Given the description of an element on the screen output the (x, y) to click on. 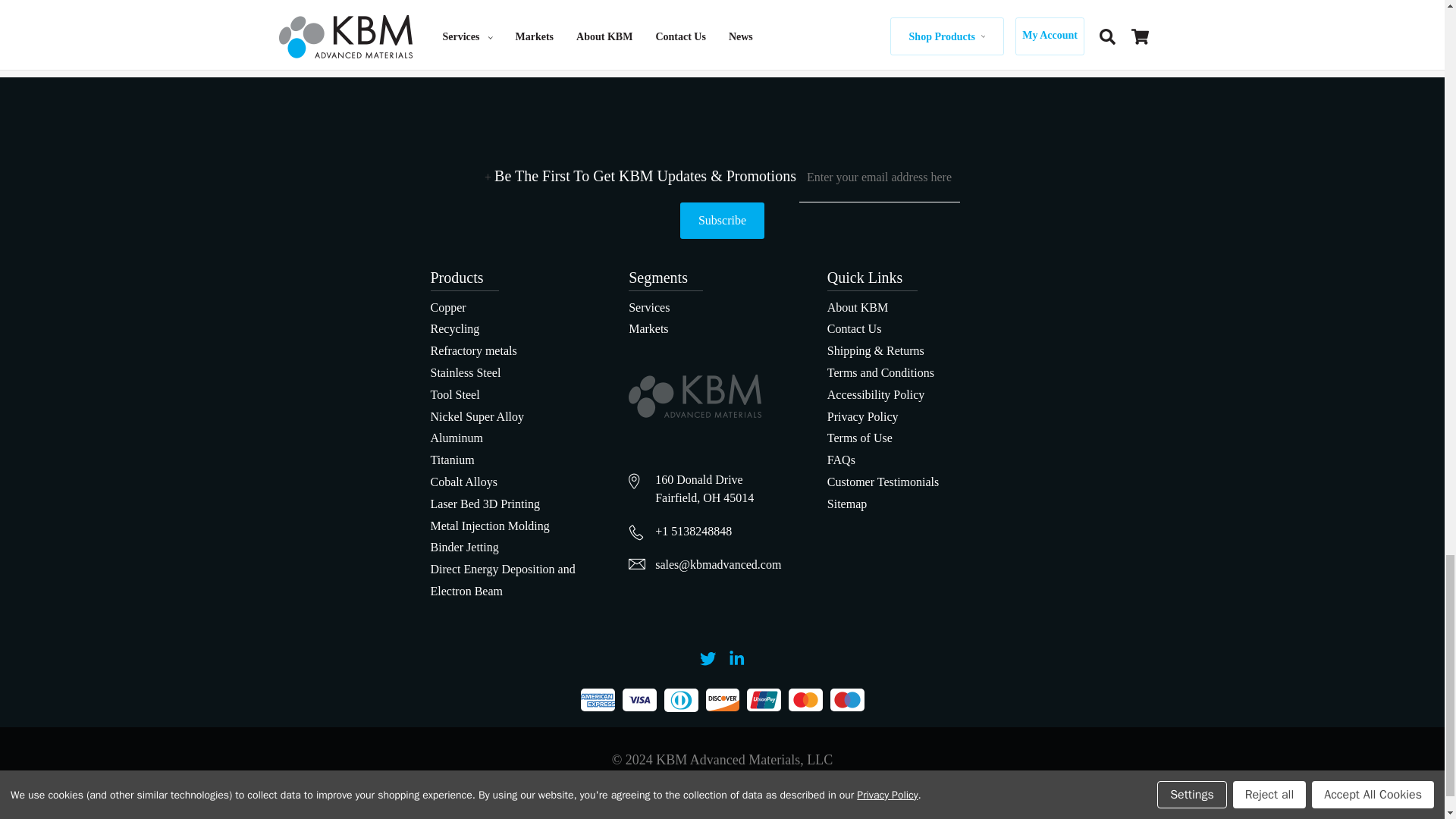
Subscribe (721, 220)
